Given the description of an element on the screen output the (x, y) to click on. 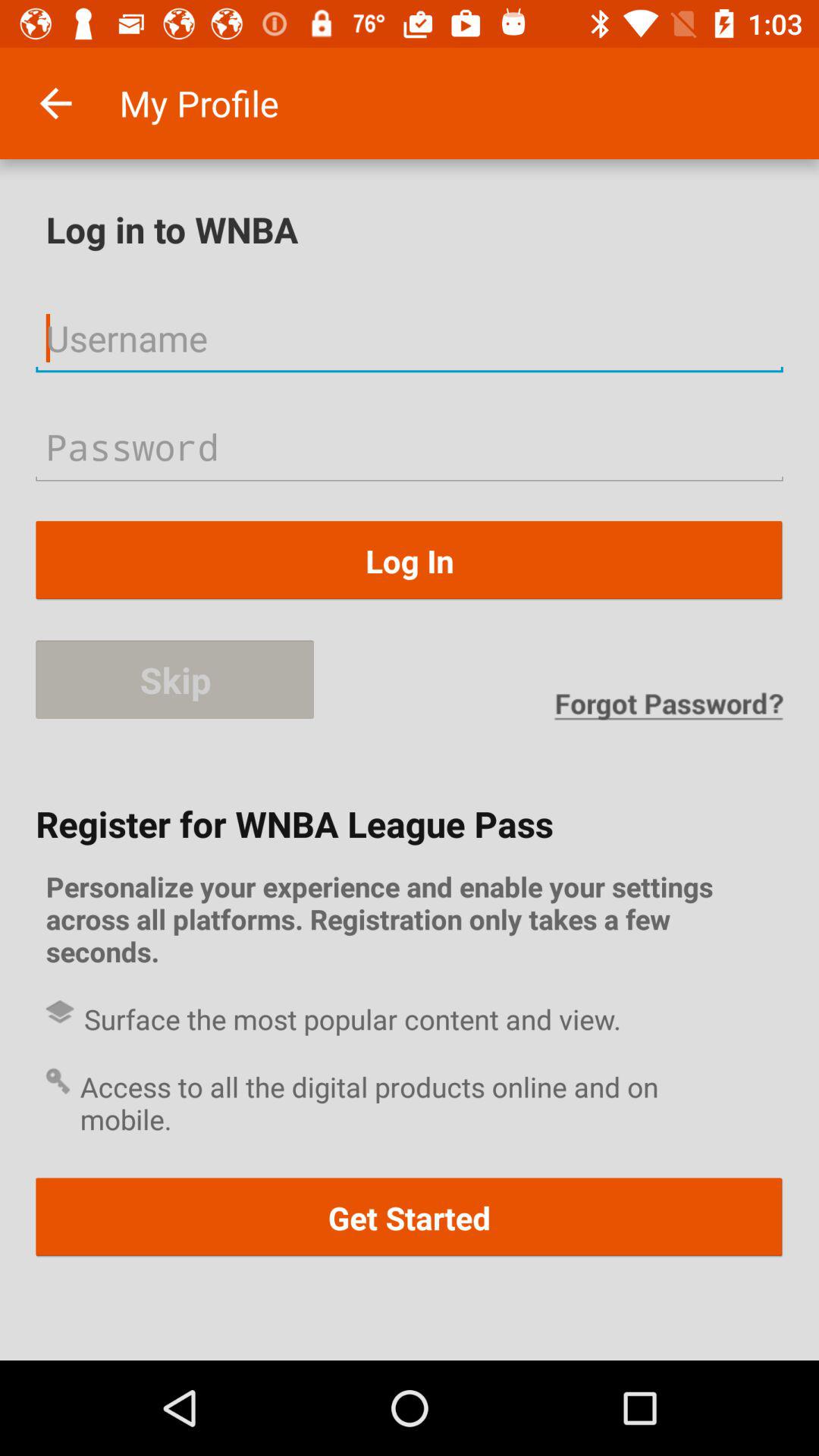
choose item below the access to all (409, 1217)
